Given the description of an element on the screen output the (x, y) to click on. 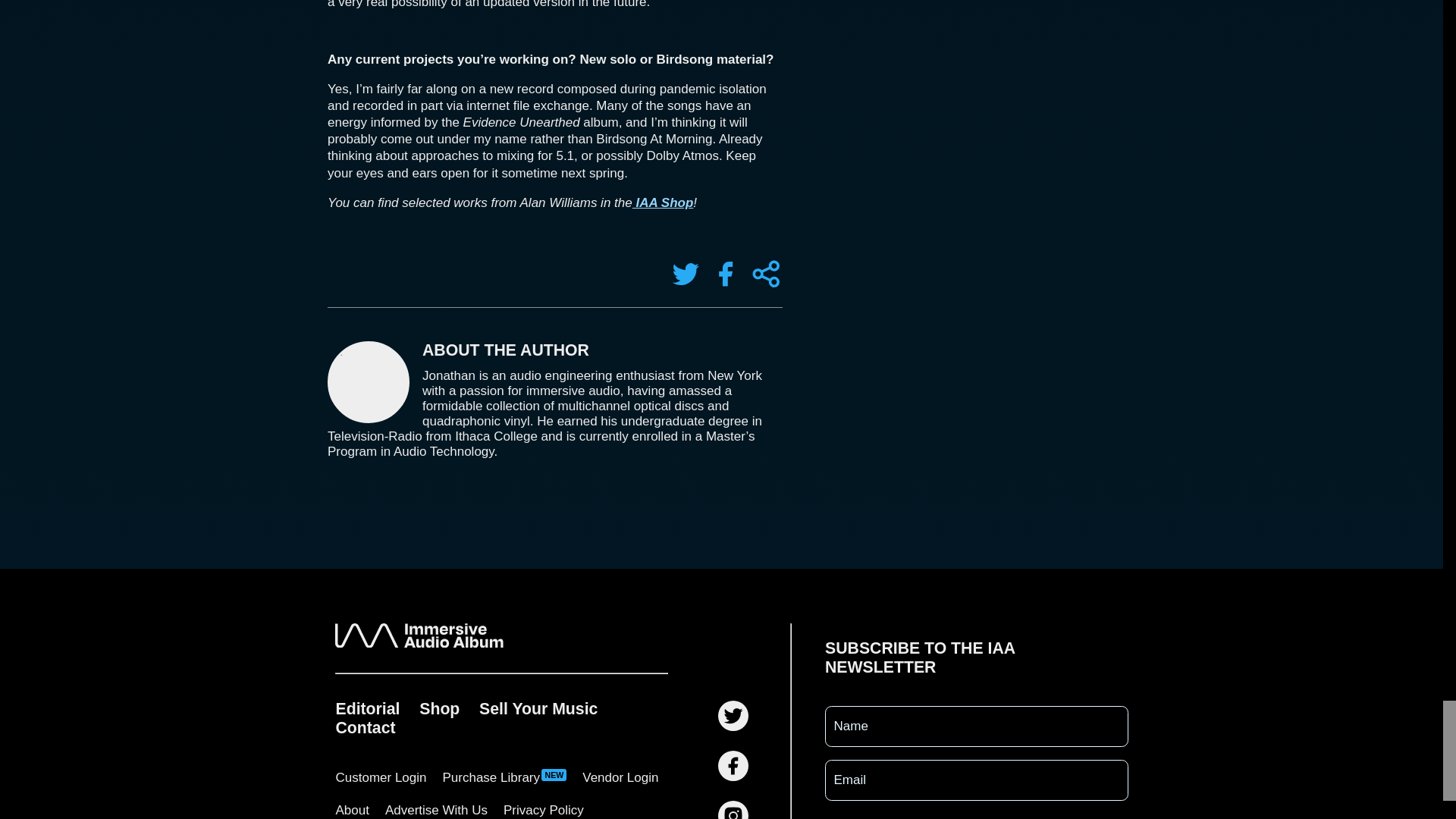
About (352, 807)
Contact (365, 727)
Purchase Library (504, 778)
Editorial (367, 708)
Shop (439, 708)
Customer Login (380, 778)
Vendor Login (620, 778)
Advertise With Us (436, 807)
Sell Your Music (538, 708)
Privacy Policy (544, 807)
